Given the description of an element on the screen output the (x, y) to click on. 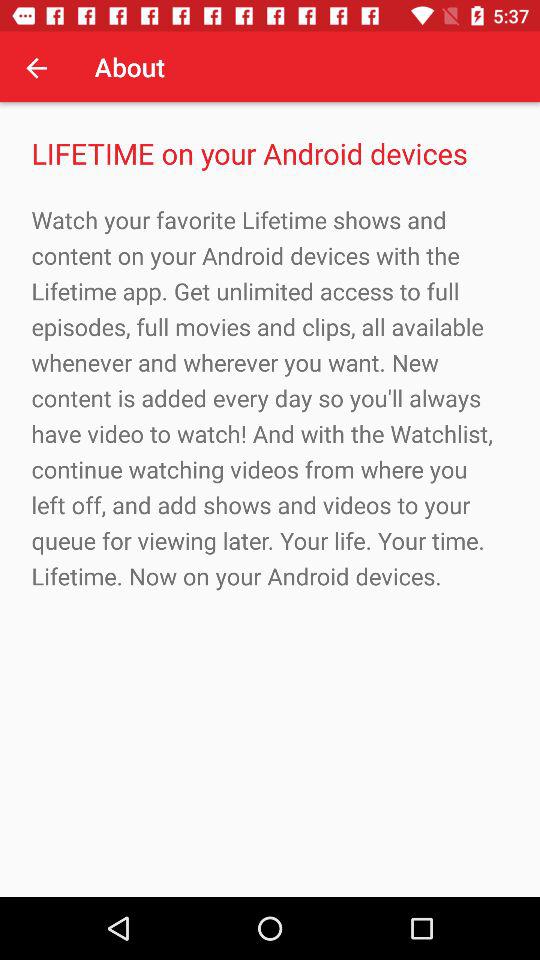
press app to the left of the about app (36, 67)
